Given the description of an element on the screen output the (x, y) to click on. 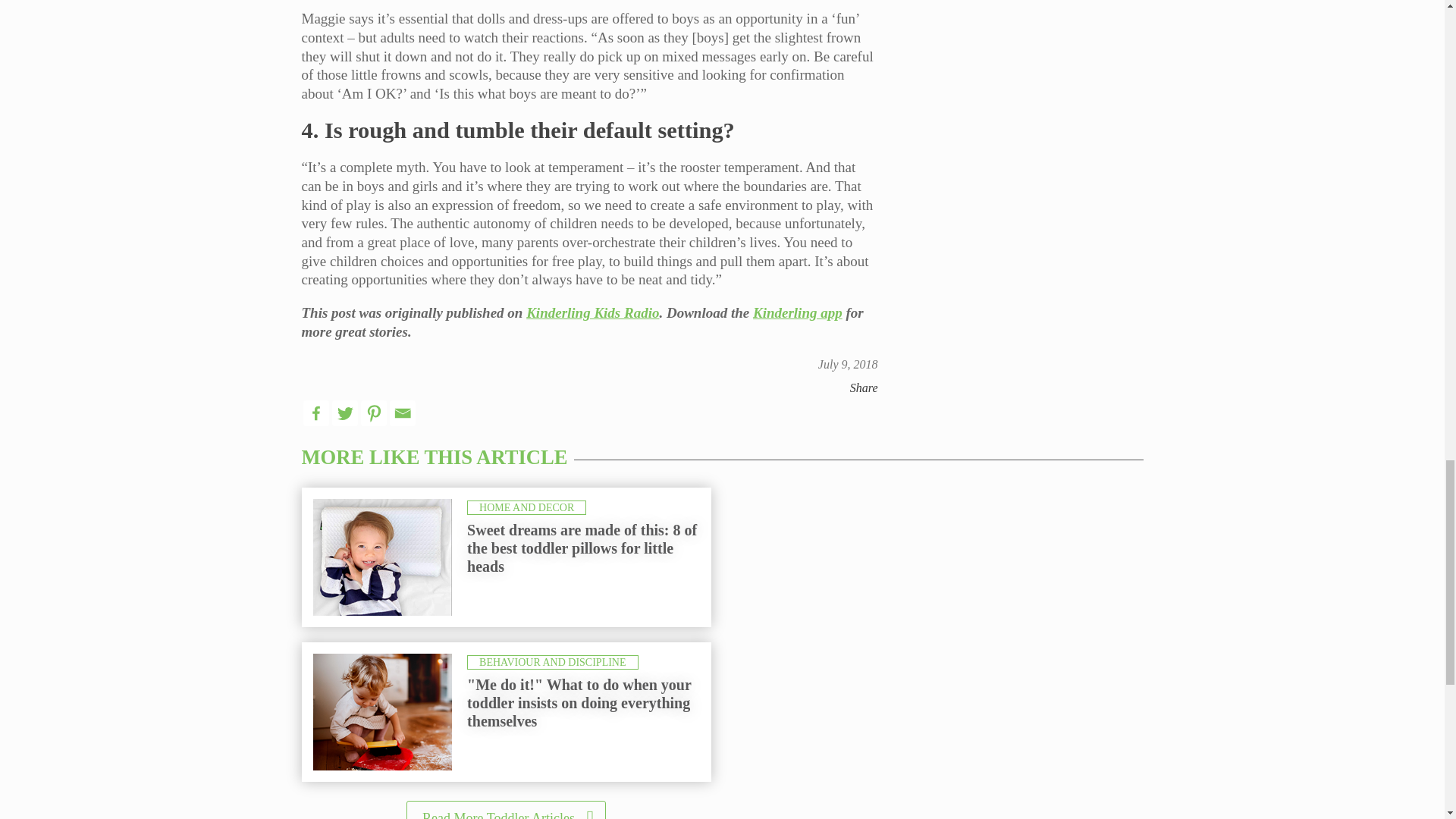
Twitter (344, 412)
Facebook (315, 412)
3:13 pm (847, 364)
